Given the description of an element on the screen output the (x, y) to click on. 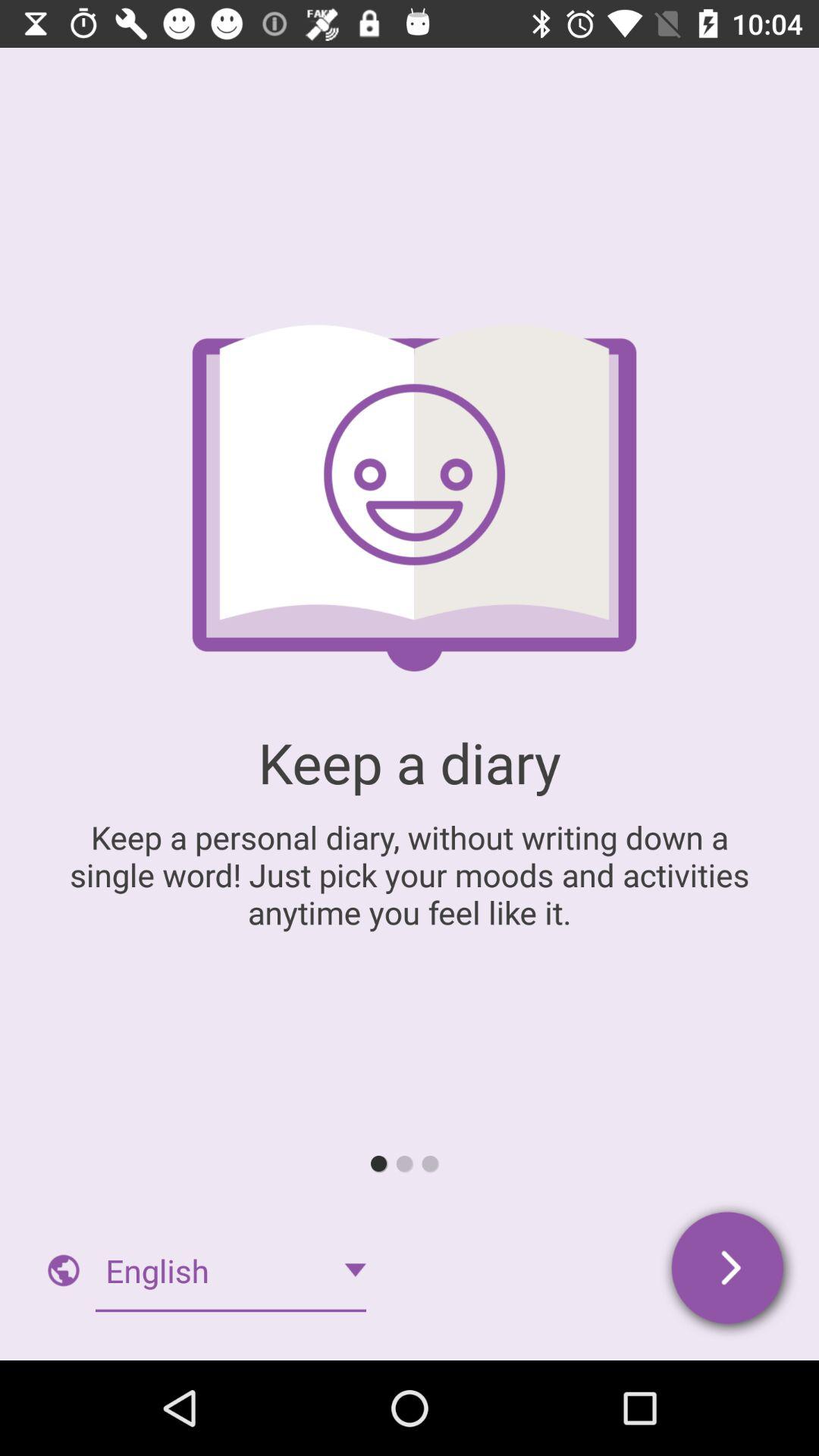
go forward (729, 1270)
